Given the description of an element on the screen output the (x, y) to click on. 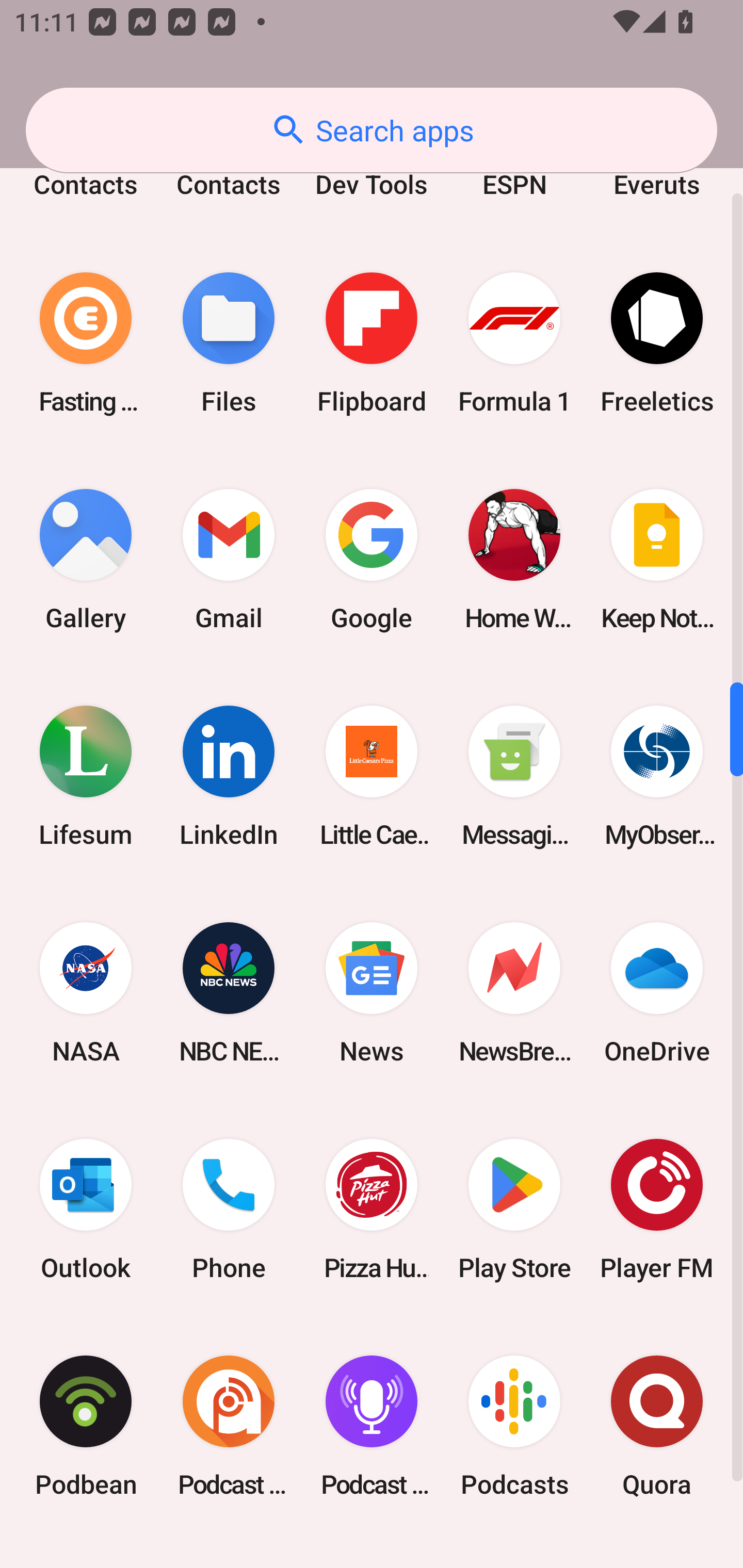
  Search apps (371, 130)
Fasting Coach (85, 343)
Files (228, 343)
Flipboard (371, 343)
Formula 1 (514, 343)
Freeletics (656, 343)
Gallery (85, 559)
Gmail (228, 559)
Google (371, 559)
Home Workout (514, 559)
Keep Notes (656, 559)
Lifesum (85, 775)
LinkedIn (228, 775)
Little Caesars Pizza (371, 775)
Messaging (514, 775)
MyObservatory (656, 775)
NASA (85, 992)
NBC NEWS (228, 992)
News (371, 992)
NewsBreak (514, 992)
OneDrive (656, 992)
Outlook (85, 1208)
Phone (228, 1208)
Pizza Hut HK & Macau (371, 1208)
Play Store (514, 1208)
Player FM (656, 1208)
Podbean (85, 1426)
Podcast Addict (228, 1426)
Podcast Player (371, 1426)
Podcasts (514, 1426)
Quora (656, 1426)
